Given the description of an element on the screen output the (x, y) to click on. 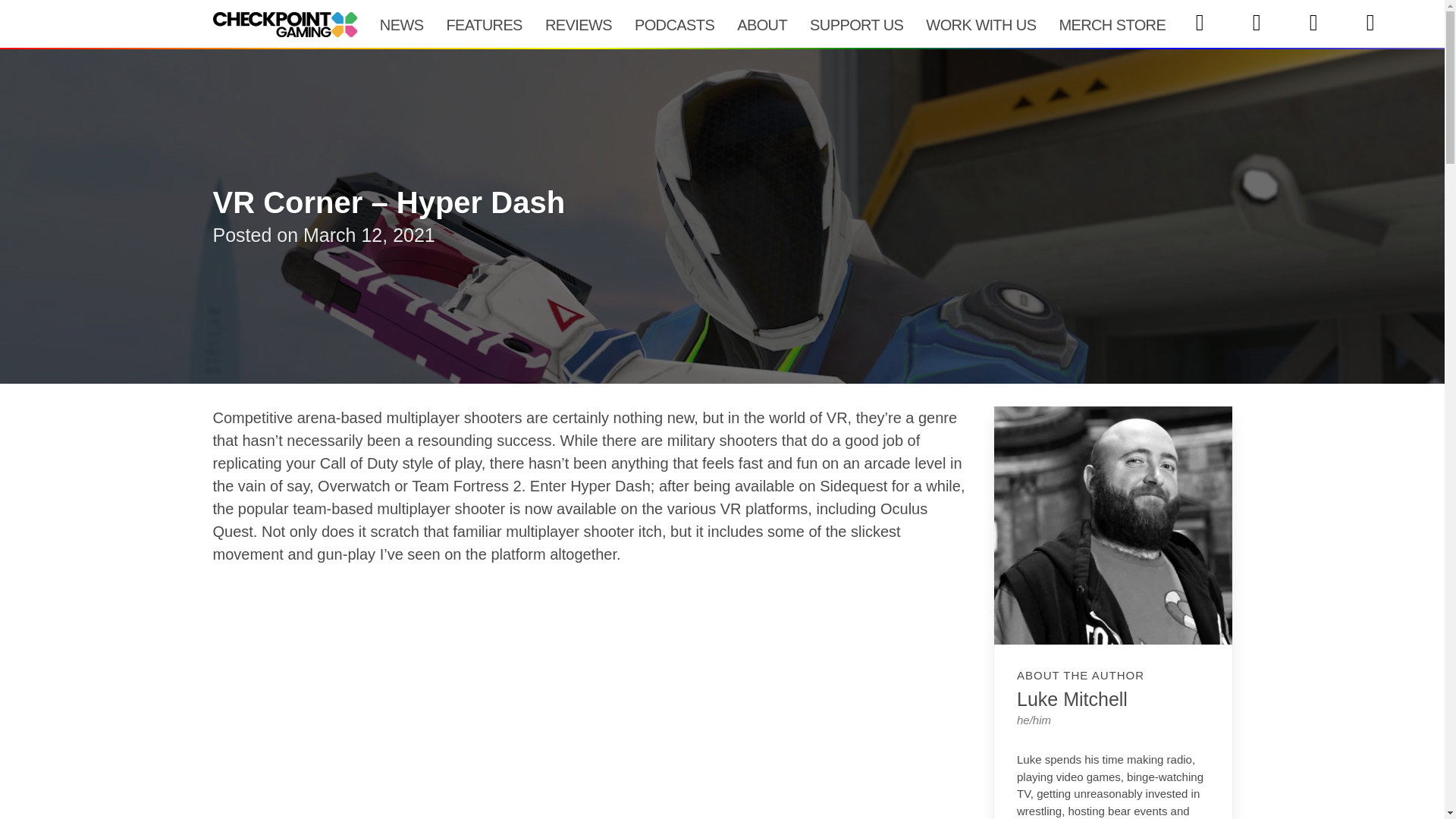
WORK WITH US (980, 24)
MERCH STORE (1111, 24)
NEWS (401, 24)
FEATURES (482, 24)
SUPPORT US (855, 24)
REVIEWS (578, 24)
PODCASTS (674, 24)
ABOUT (761, 24)
